Given the description of an element on the screen output the (x, y) to click on. 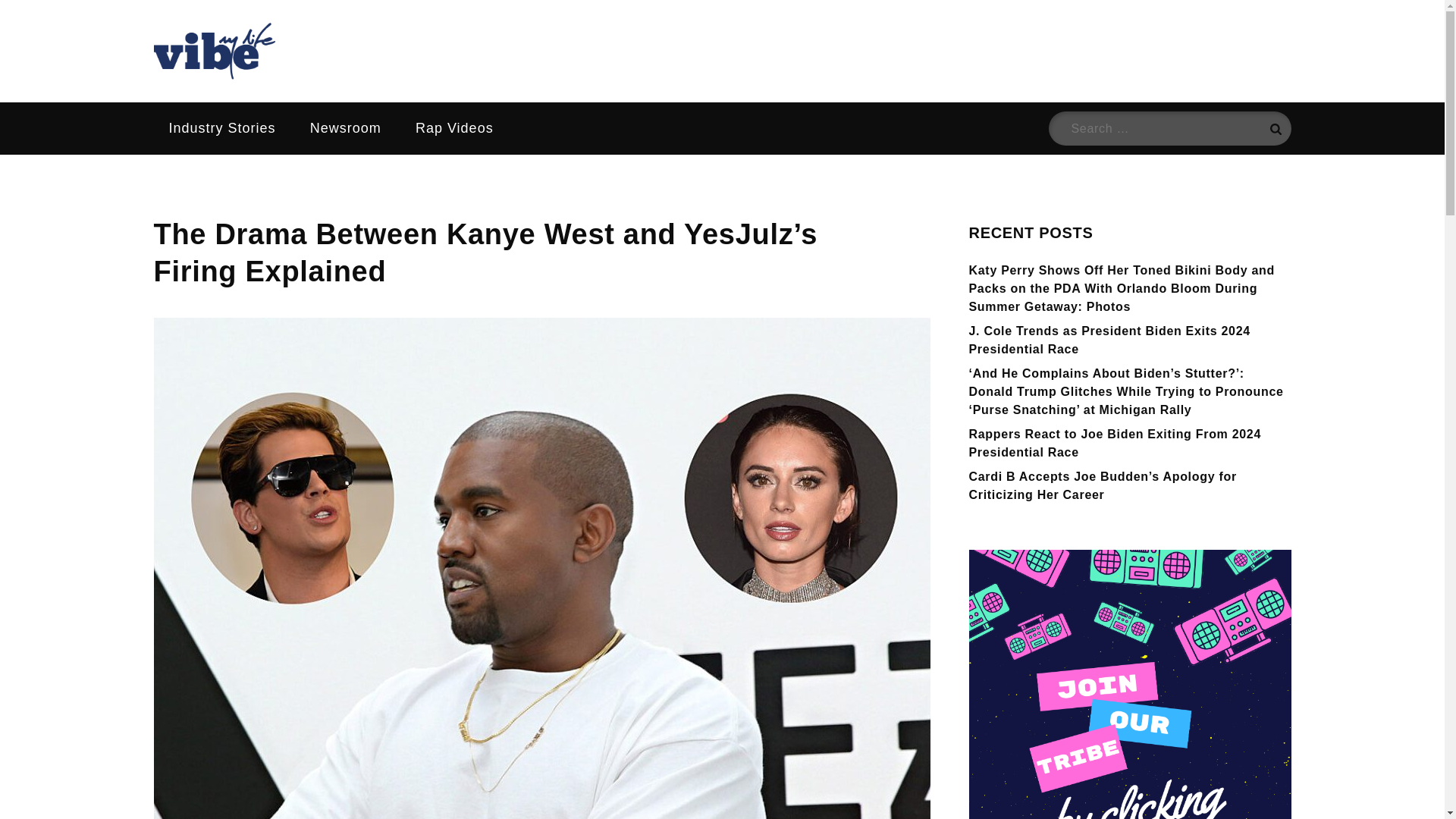
Industry Stories (220, 127)
Search (1274, 128)
Newsroom (345, 127)
Rap Videos (454, 127)
Vibe My Life (255, 96)
